Given the description of an element on the screen output the (x, y) to click on. 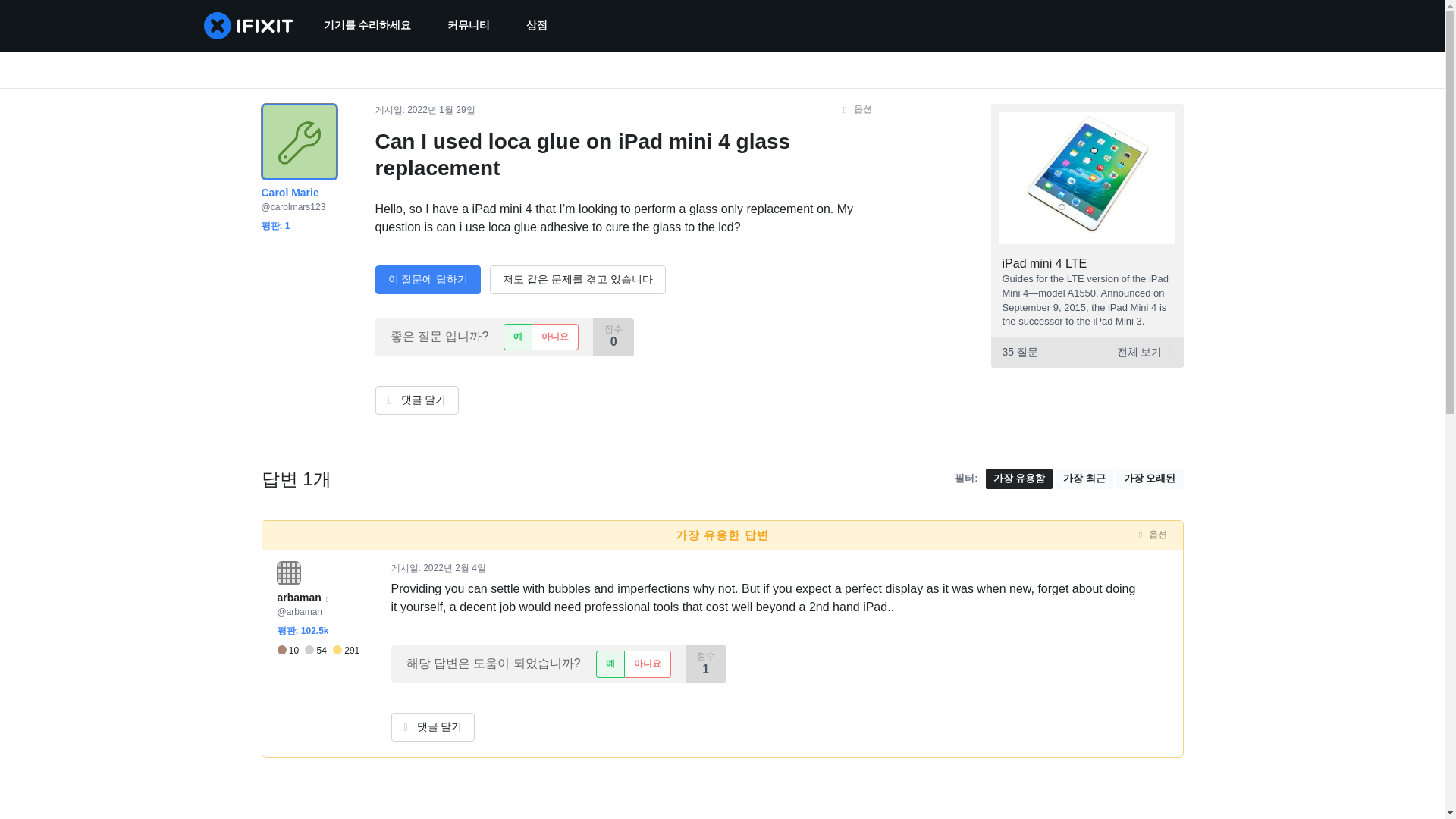
Fri, 04 Feb 2022 06:33:12 -0700 (454, 567)
10 54 291 (318, 650)
iPad mini 4 LTE (1045, 263)
Sat, 29 Jan 2022 21:59:42 -0700 (440, 109)
